Given the description of an element on the screen output the (x, y) to click on. 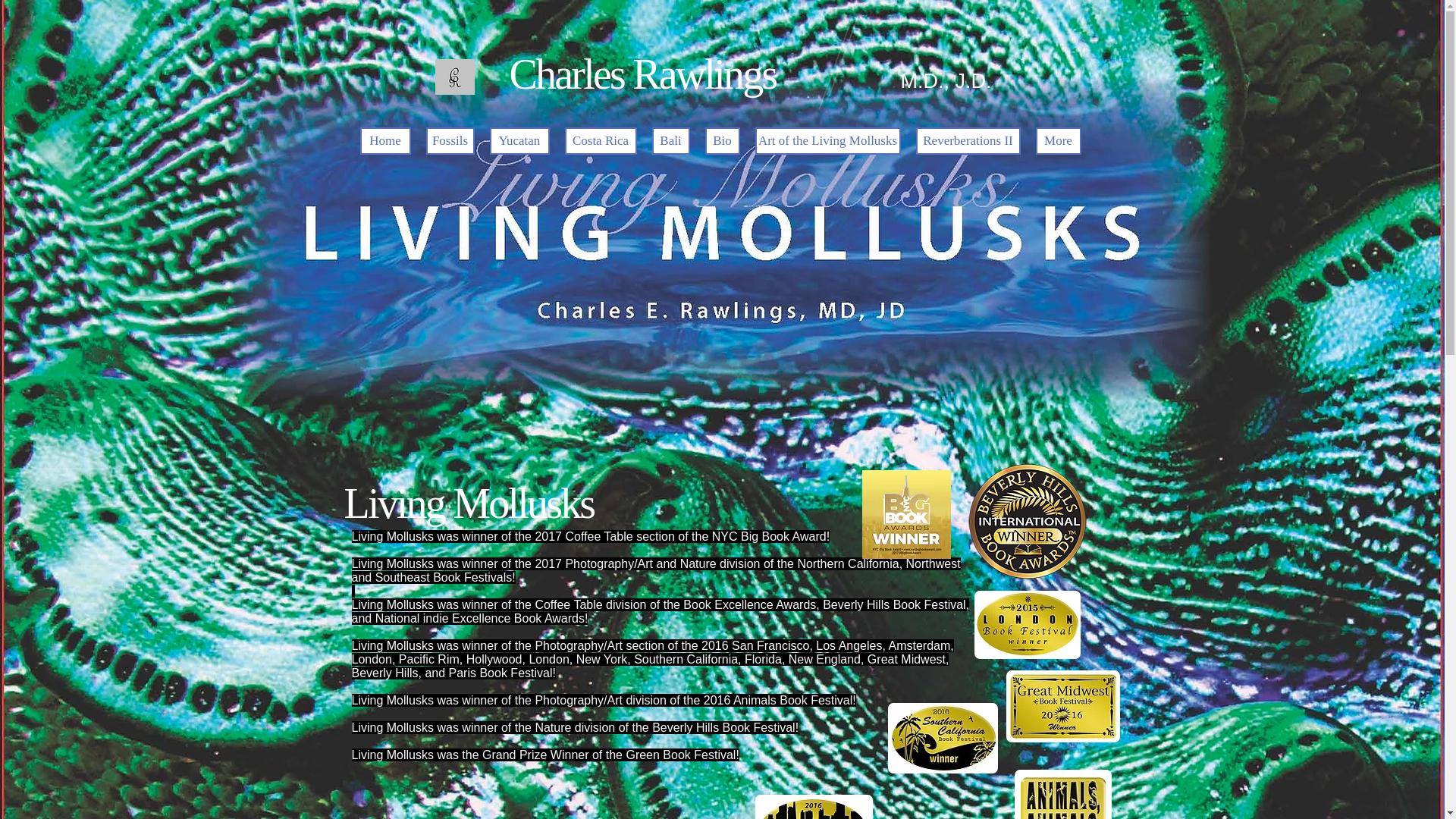
SCBF.dig.badge.WIN2016web.jpg (941, 737)
SFBF.dig.2016.Win.web.jpg (813, 806)
London.Digital.Badge2015.WIN.jpg (1027, 624)
Fossils (450, 140)
Reverberations II (967, 140)
Yucatan (519, 140)
Midwest.Digital.Win2016.web.jpg (1062, 706)
Home (384, 140)
Bio (721, 140)
Art of the Living Mollusks (828, 140)
Costa Rica (600, 140)
Bali (671, 140)
Animals.Digital.Win.2016.web.jpg (1063, 794)
Beverly Hills Winner.png (1026, 520)
lOGO.png (454, 76)
